Given the description of an element on the screen output the (x, y) to click on. 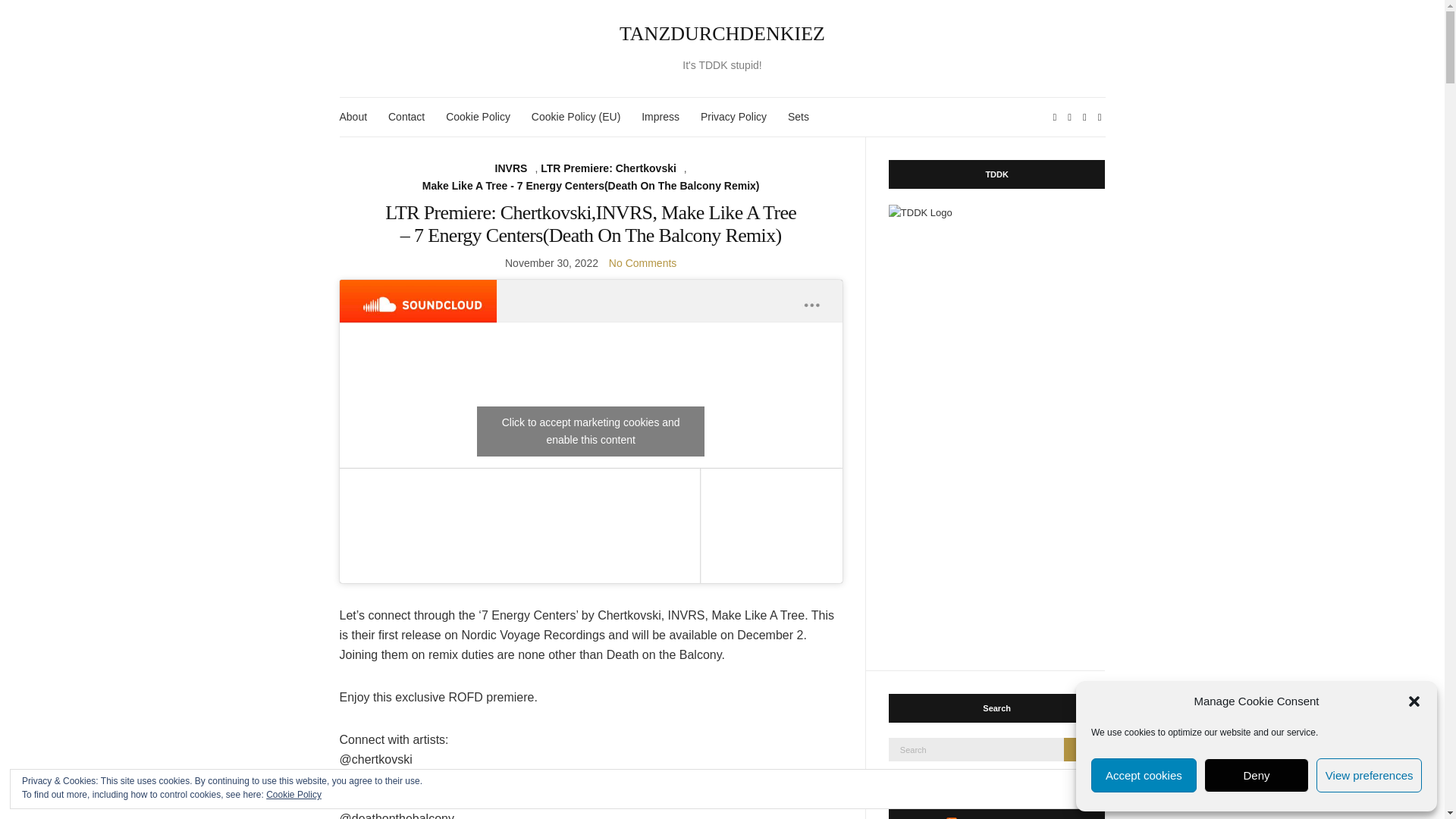
View preferences (1369, 775)
No Comments (642, 263)
INVRS (511, 168)
Click to accept marketing cookies and enable this content (590, 431)
Close and accept (1378, 788)
Sets (798, 117)
About (353, 117)
Privacy Policy (733, 117)
Impress (660, 117)
Advertisement (1002, 547)
